Given the description of an element on the screen output the (x, y) to click on. 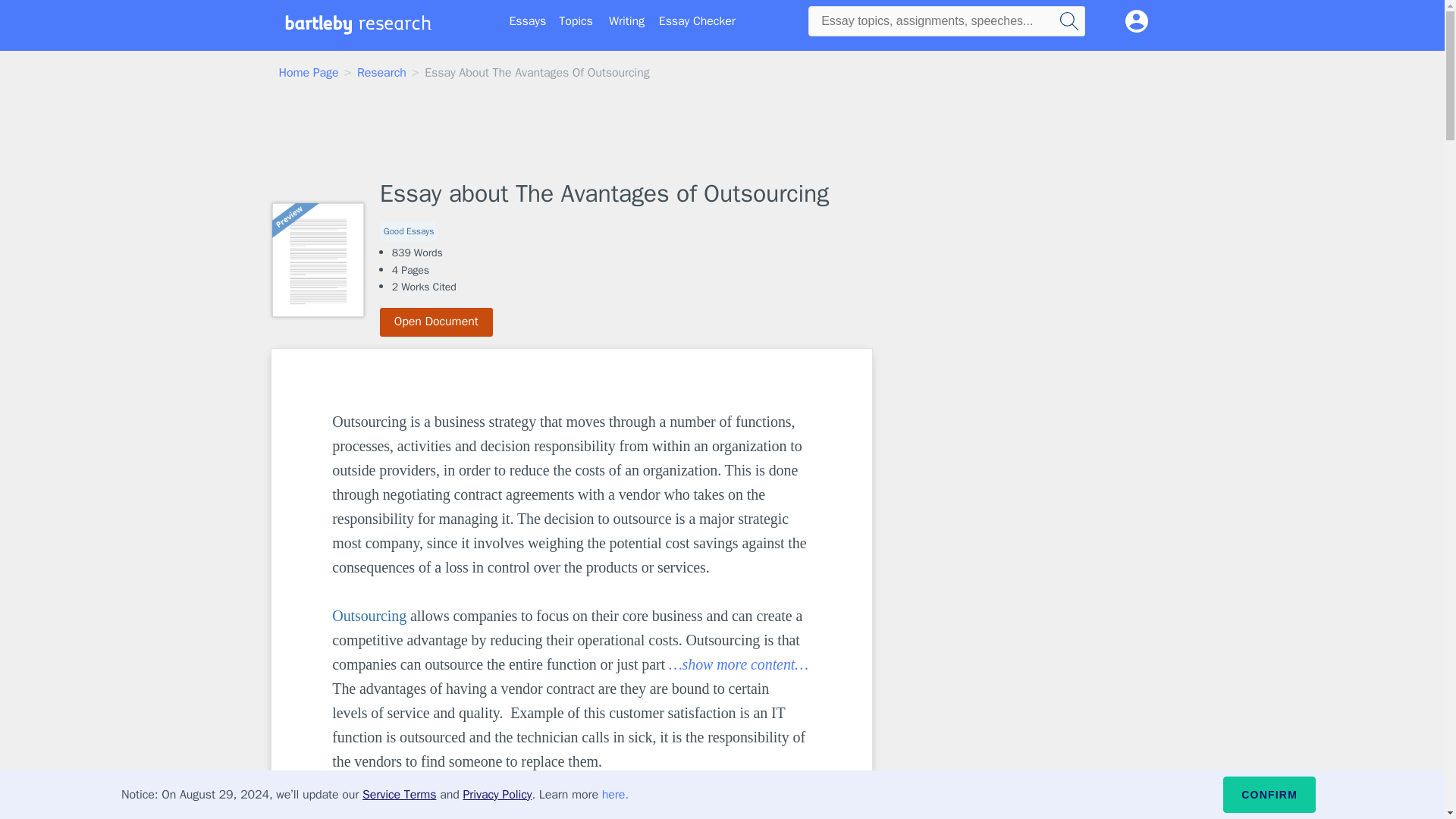
Essays (528, 20)
Research (381, 72)
Outsourcing (368, 615)
Open Document (436, 321)
Home Page (309, 72)
Topics (575, 20)
Writing (626, 20)
Essay Checker (697, 20)
